Given the description of an element on the screen output the (x, y) to click on. 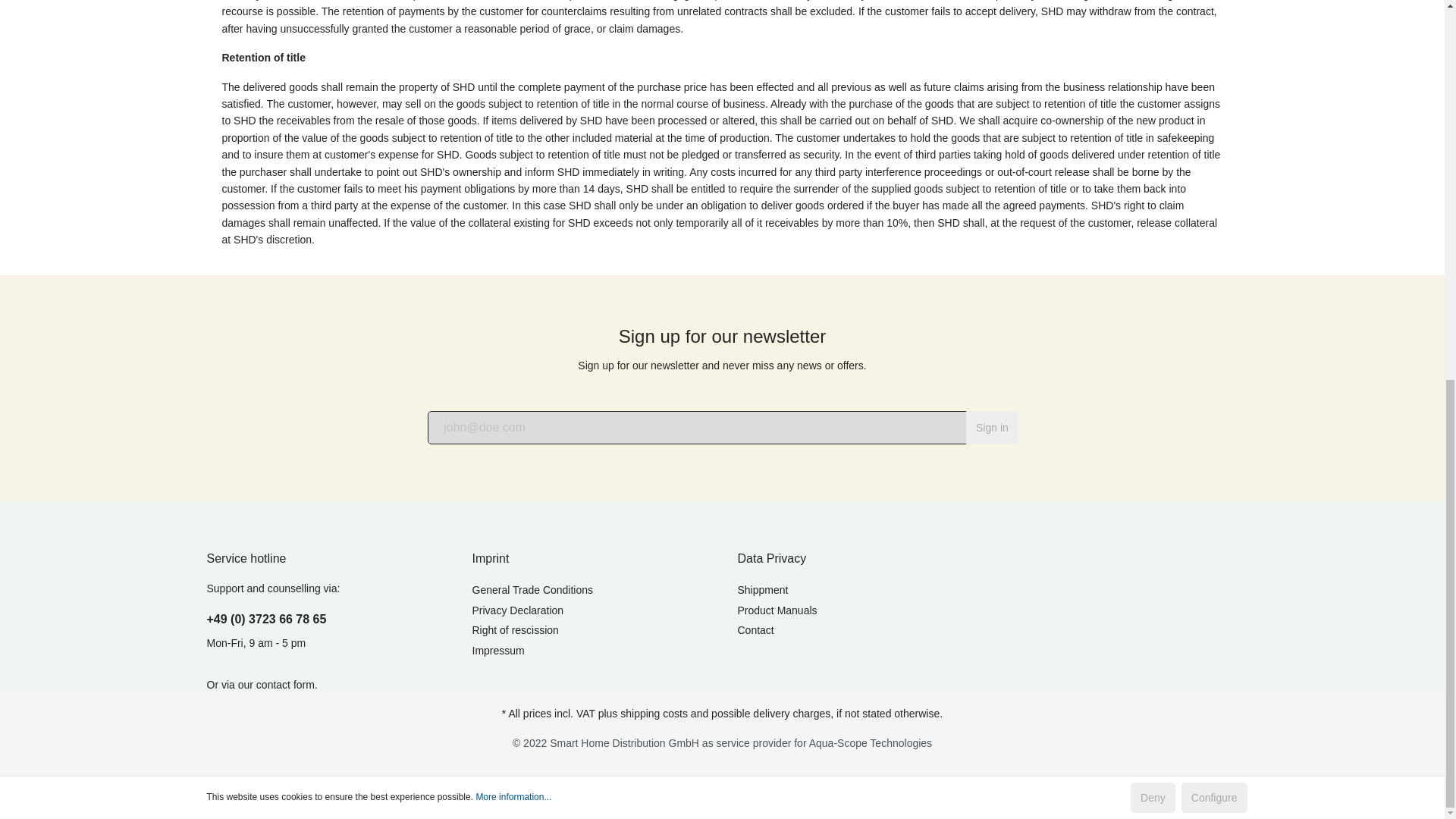
General Trade Conditions (531, 589)
Privacy Declaration (517, 610)
contact form (285, 684)
Sign in (991, 427)
